Given the description of an element on the screen output the (x, y) to click on. 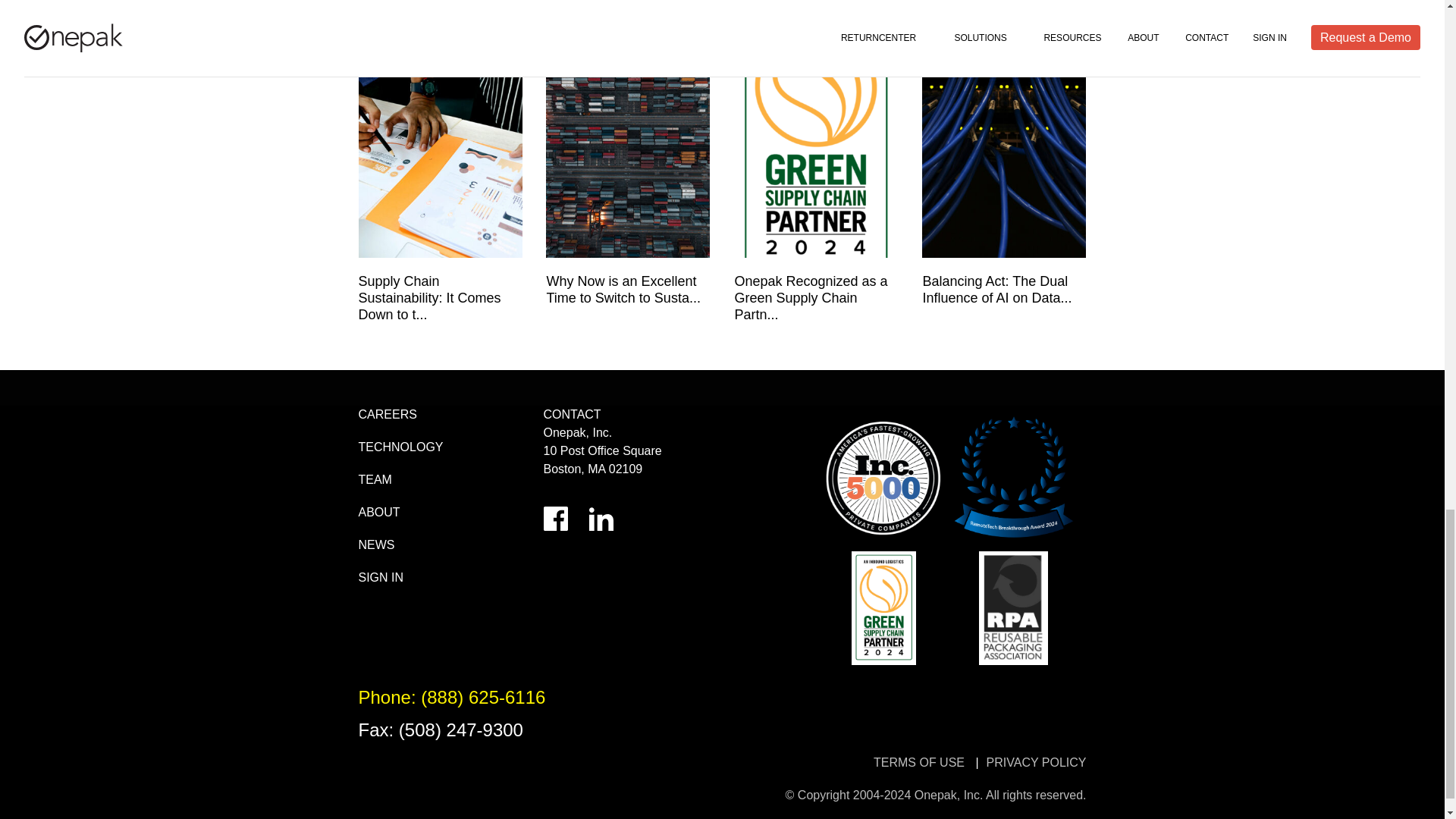
CAREERS (387, 413)
TECHNOLOGY (400, 446)
